Given the description of an element on the screen output the (x, y) to click on. 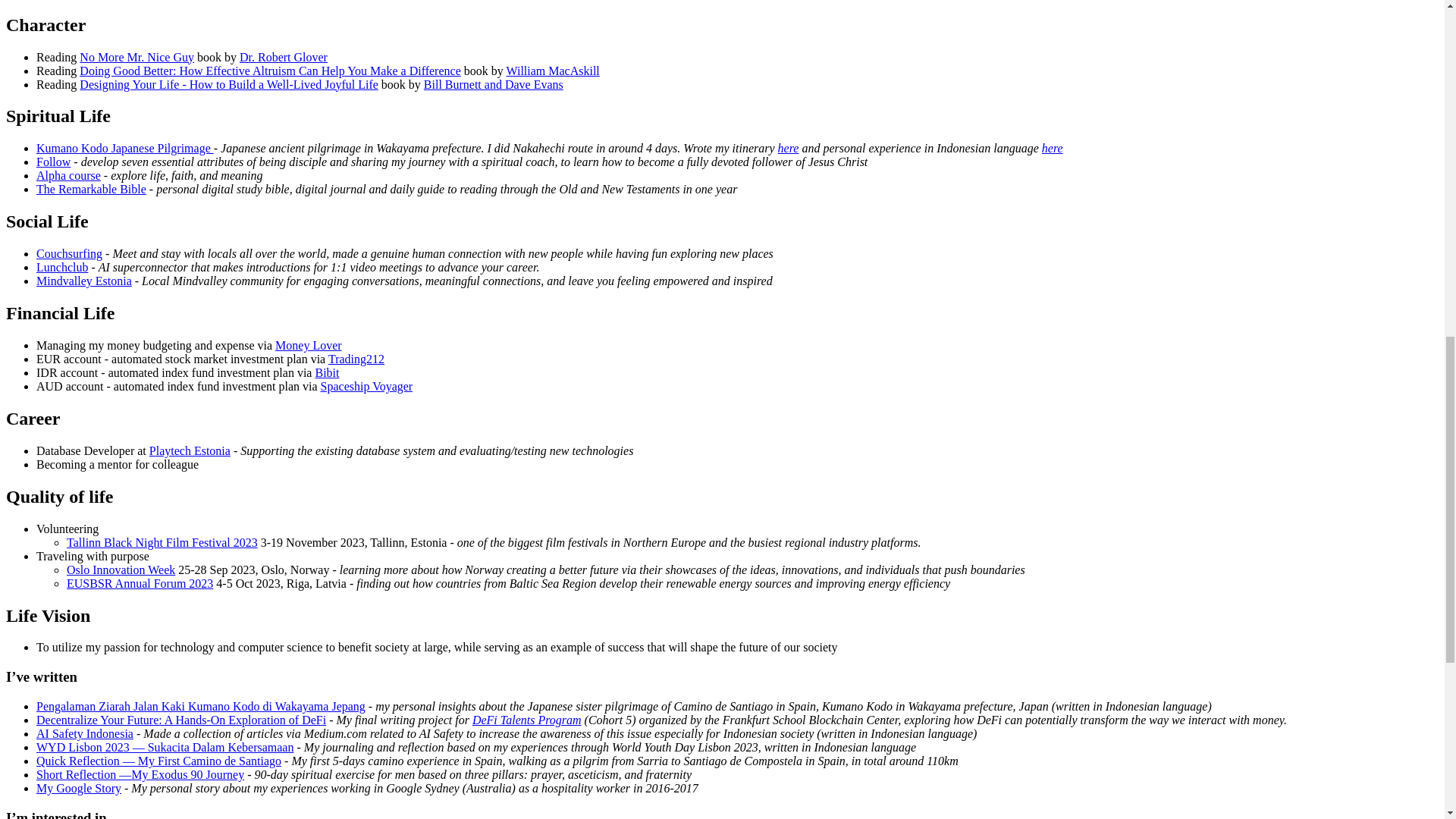
William MacAskill (551, 70)
No More Mr. Nice Guy (136, 56)
Alpha course (68, 174)
Couchsurfing (68, 253)
Bill Burnett and Dave Evans (493, 83)
Kumano Kodo Japanese Pilgrimage (125, 147)
Follow (52, 161)
here (788, 147)
Designing Your Life - How to Build a Well-Lived Joyful Life (228, 83)
